Given the description of an element on the screen output the (x, y) to click on. 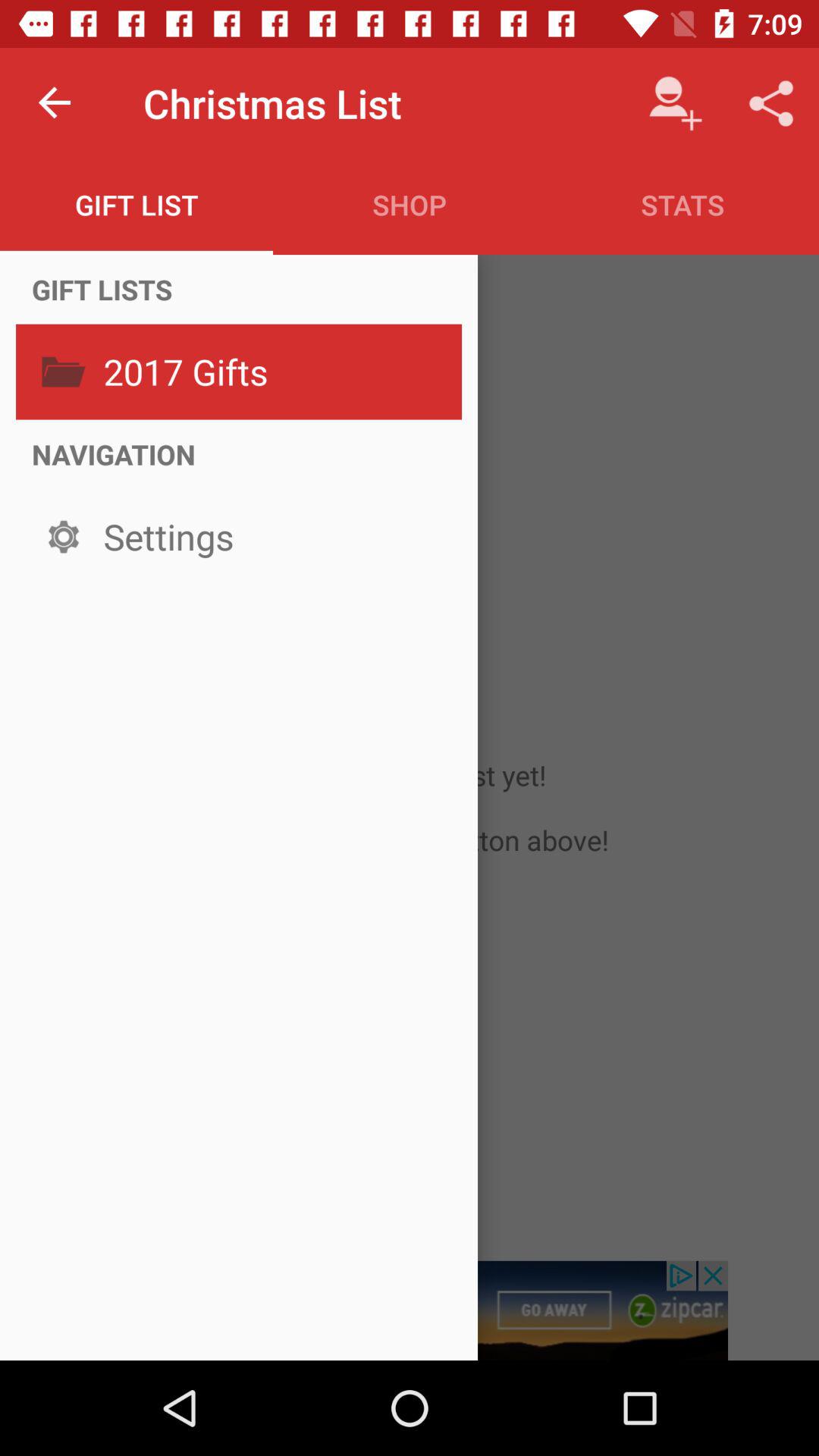
click the stats icon (682, 204)
